Given the description of an element on the screen output the (x, y) to click on. 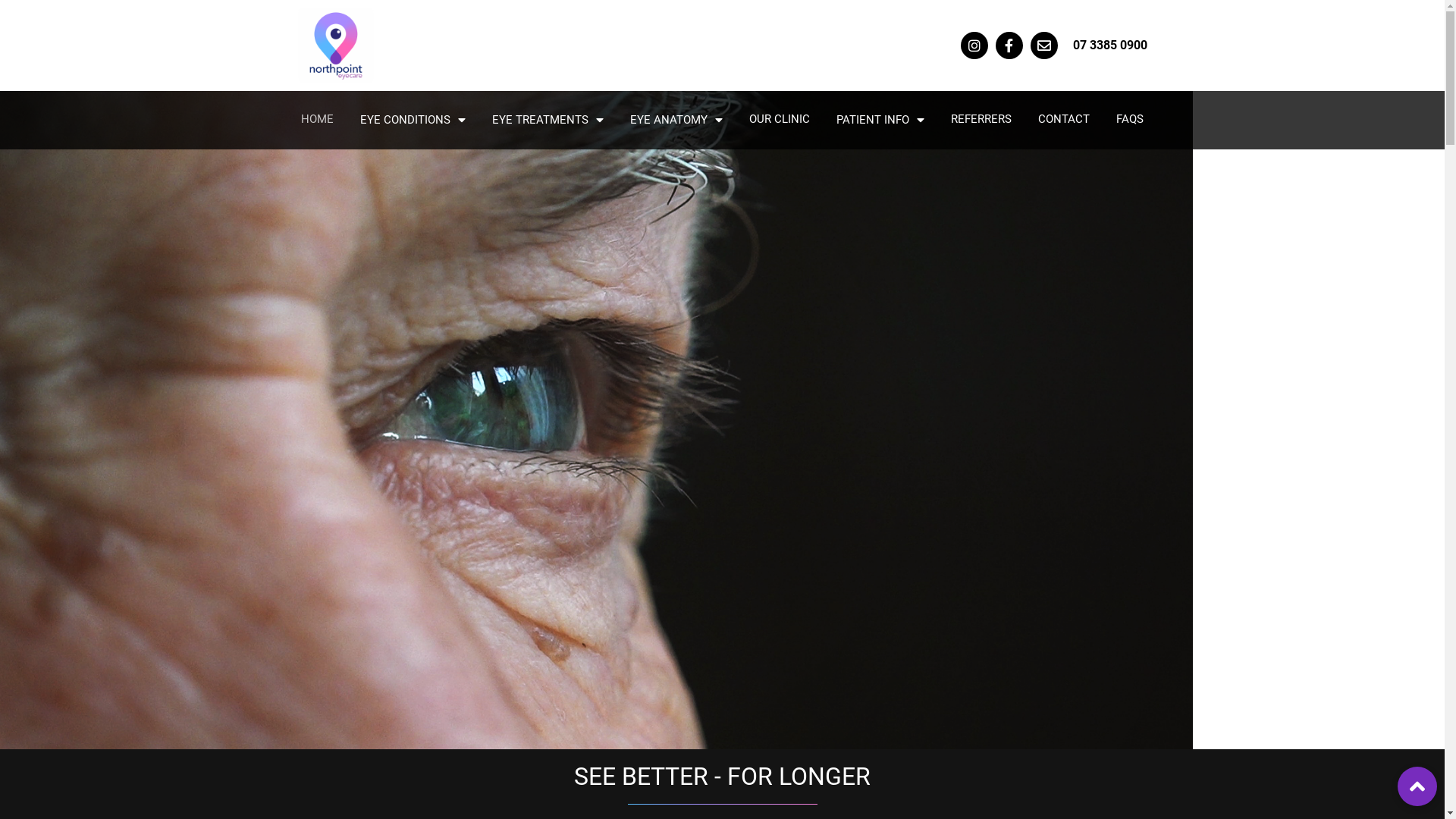
OUR CLINIC Element type: text (779, 119)
FAQS Element type: text (1129, 119)
CONTACT Element type: text (1063, 119)
EYE ANATOMY Element type: text (676, 119)
REFERRERS Element type: text (981, 119)
HOME Element type: text (317, 119)
EYE TREATMENTS Element type: text (547, 119)
EYE CONDITIONS Element type: text (412, 119)
07 3385 0900 Element type: text (1109, 44)
PATIENT INFO Element type: text (880, 119)
